Given the description of an element on the screen output the (x, y) to click on. 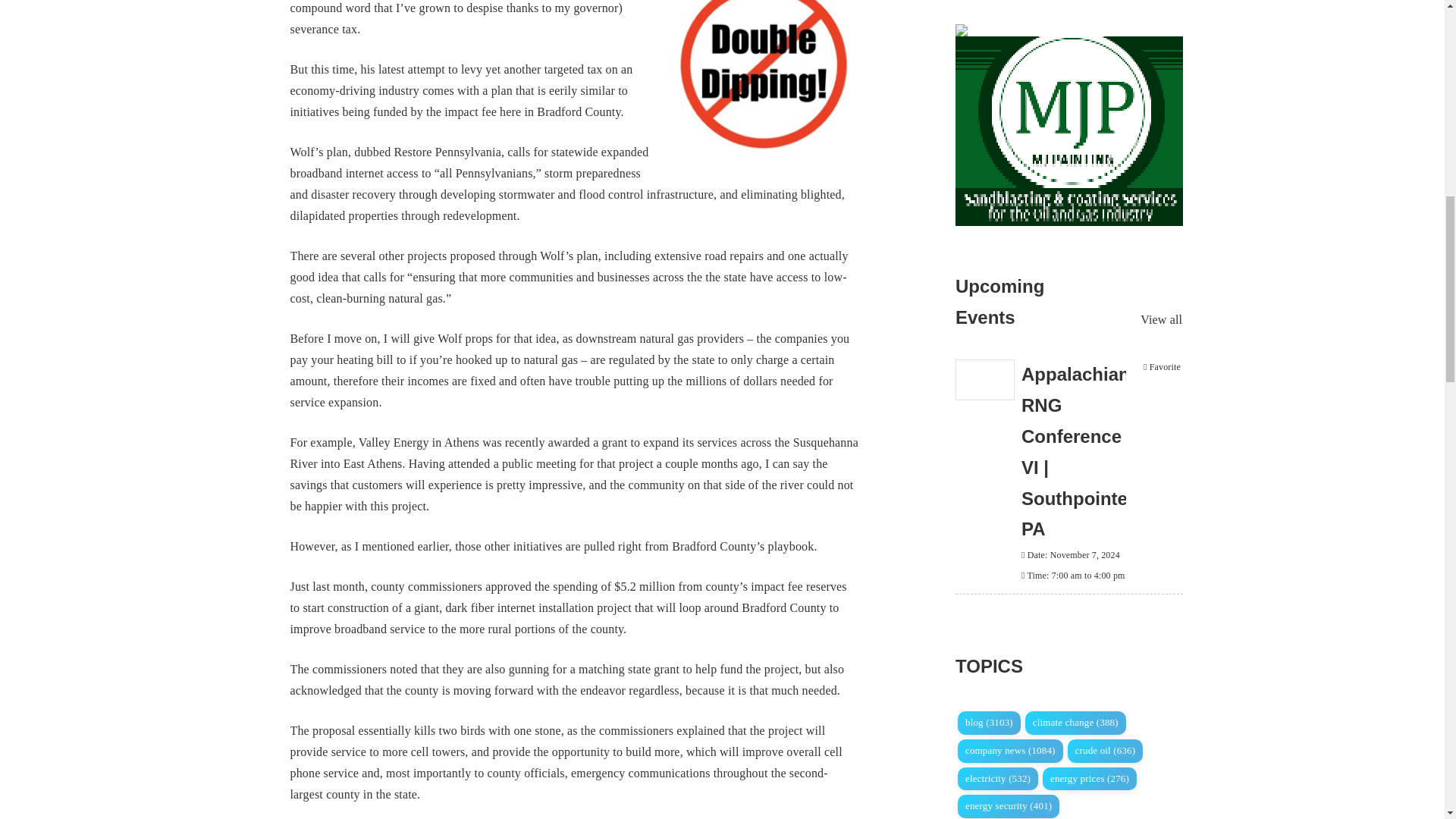
Add to Favorites (1161, 366)
